Given the description of an element on the screen output the (x, y) to click on. 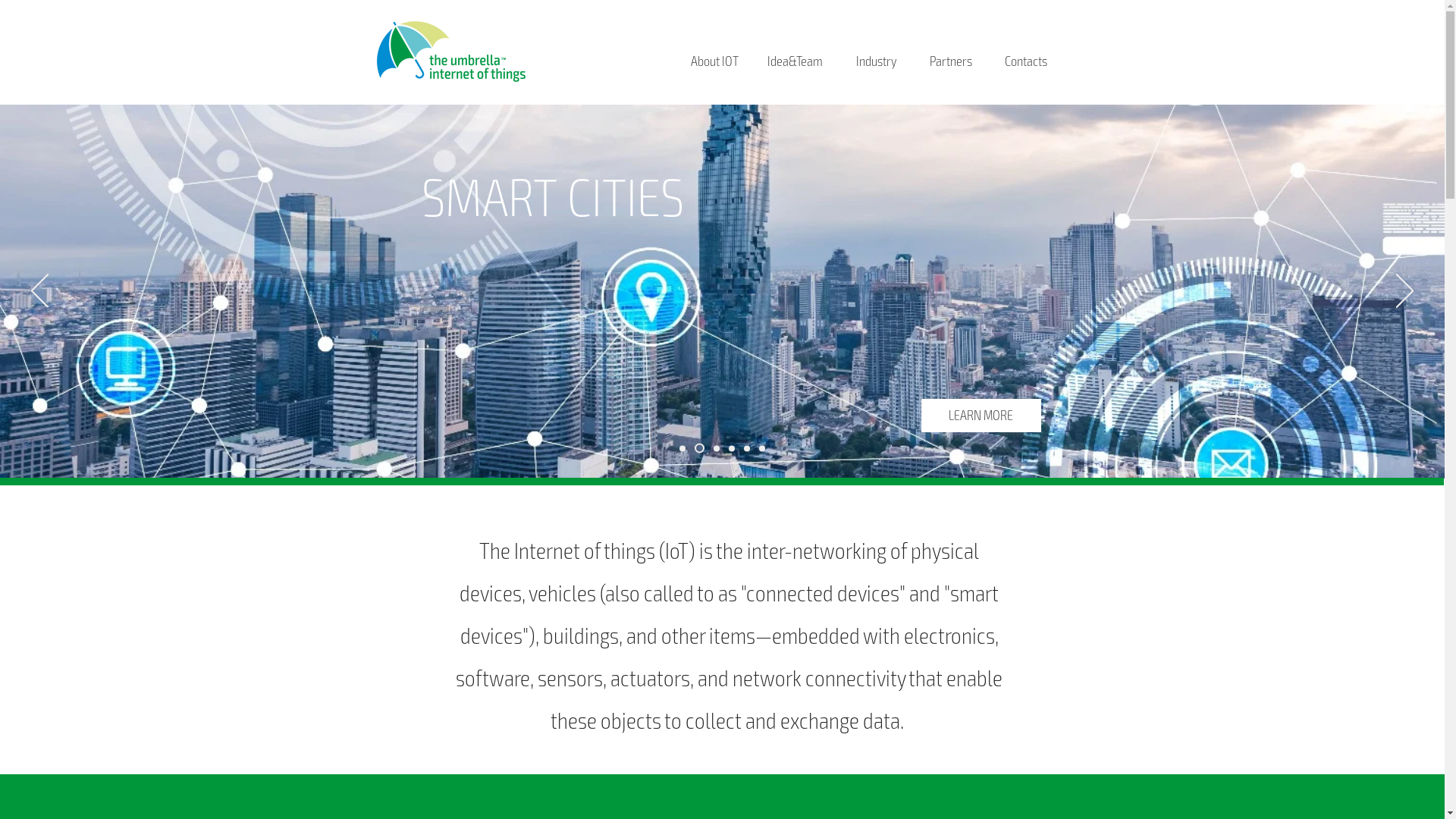
Industry Element type: text (875, 61)
About IOT Element type: text (714, 61)
LEARN MORE Element type: text (980, 415)
Idea&Team Element type: text (795, 61)
Wix Language Menu Element type: hover (1022, 23)
Contacts Element type: text (1025, 61)
Partners Element type: text (950, 61)
